Given the description of an element on the screen output the (x, y) to click on. 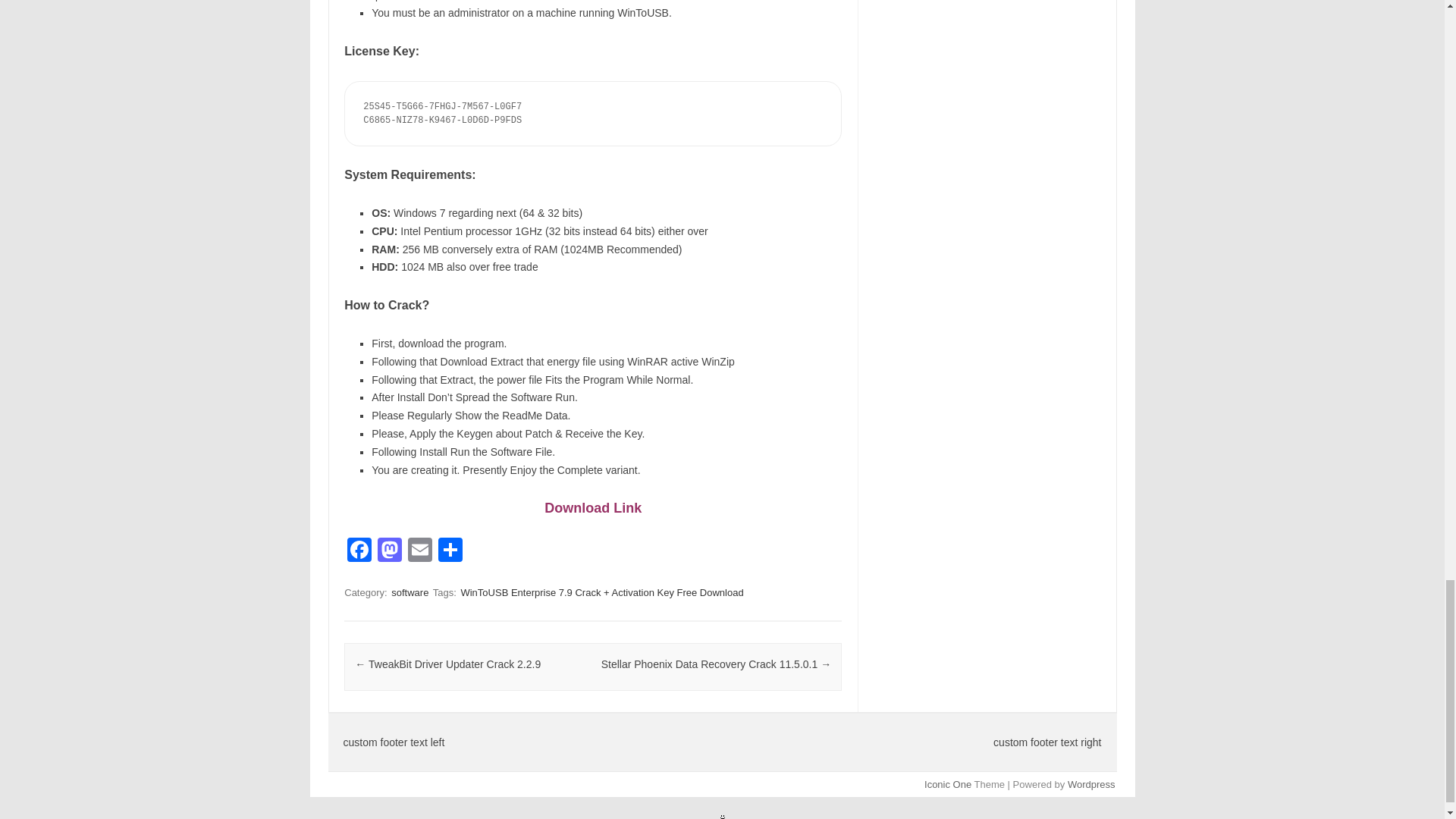
Download Link (593, 507)
Facebook (358, 551)
Email (419, 551)
software (409, 592)
Mastodon (389, 551)
Facebook (358, 551)
Mastodon (389, 551)
Email (419, 551)
